Given the description of an element on the screen output the (x, y) to click on. 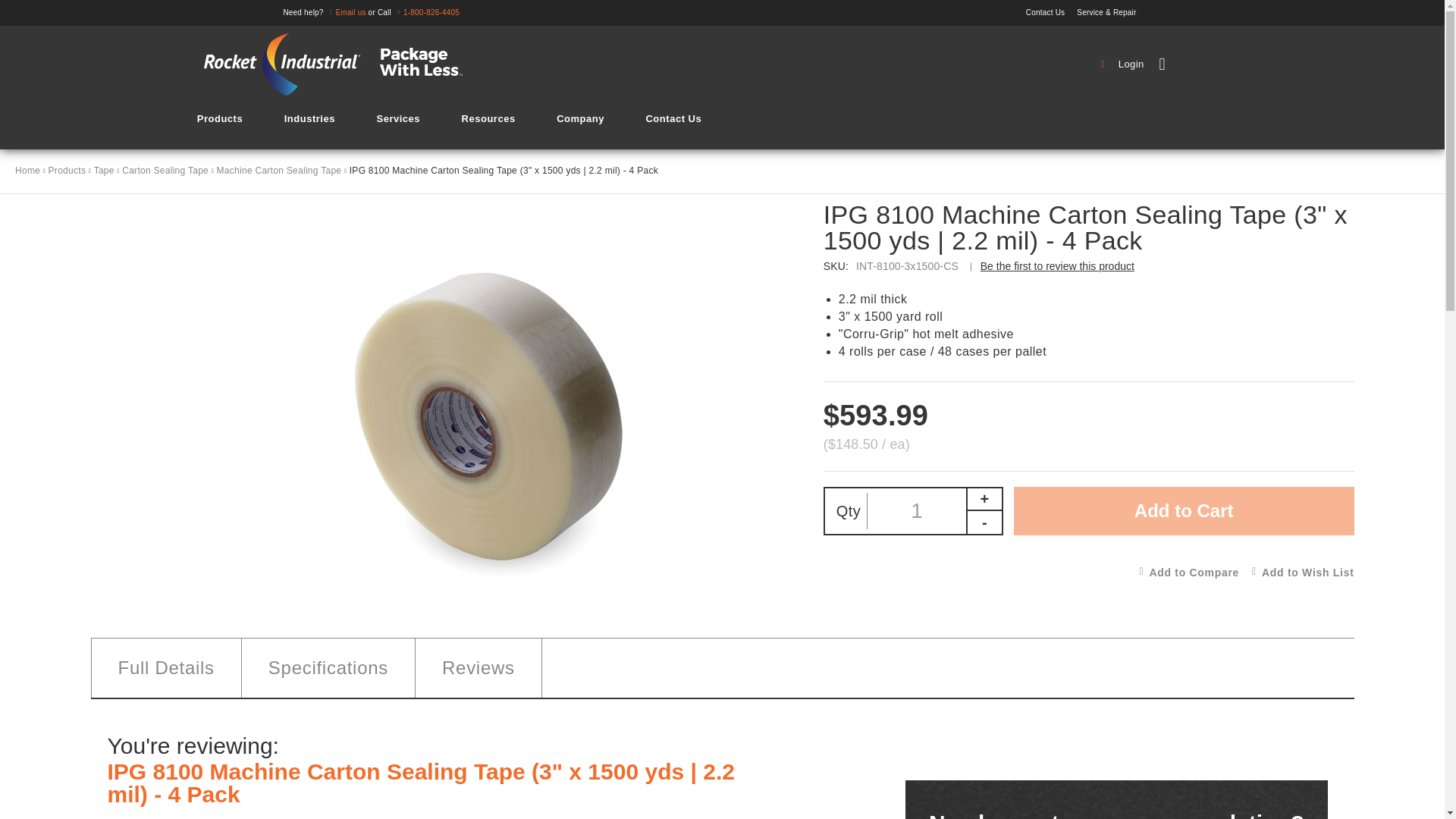
Email us (346, 12)
1-800-826-4405 (426, 12)
Products (219, 118)
Contact Us (1050, 12)
My Cart (1207, 64)
Contact Us (1050, 12)
Login (1124, 64)
1 (916, 510)
Rocket Industrial Logo (342, 64)
